Given the description of an element on the screen output the (x, y) to click on. 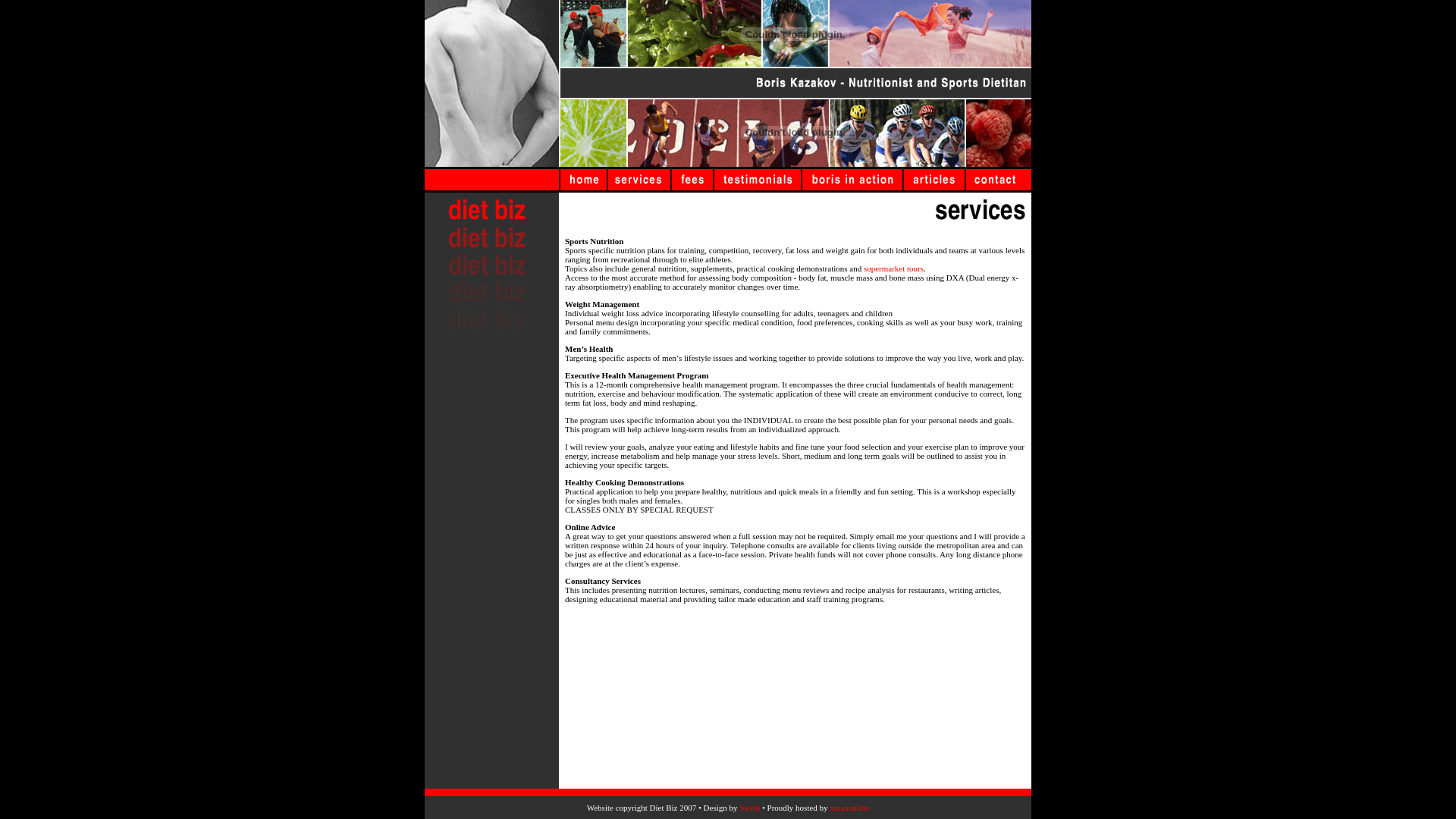
xmanonline Element type: text (849, 807)
supermarket tours Element type: text (893, 268)
Swish Element type: text (749, 807)
